Given the description of an element on the screen output the (x, y) to click on. 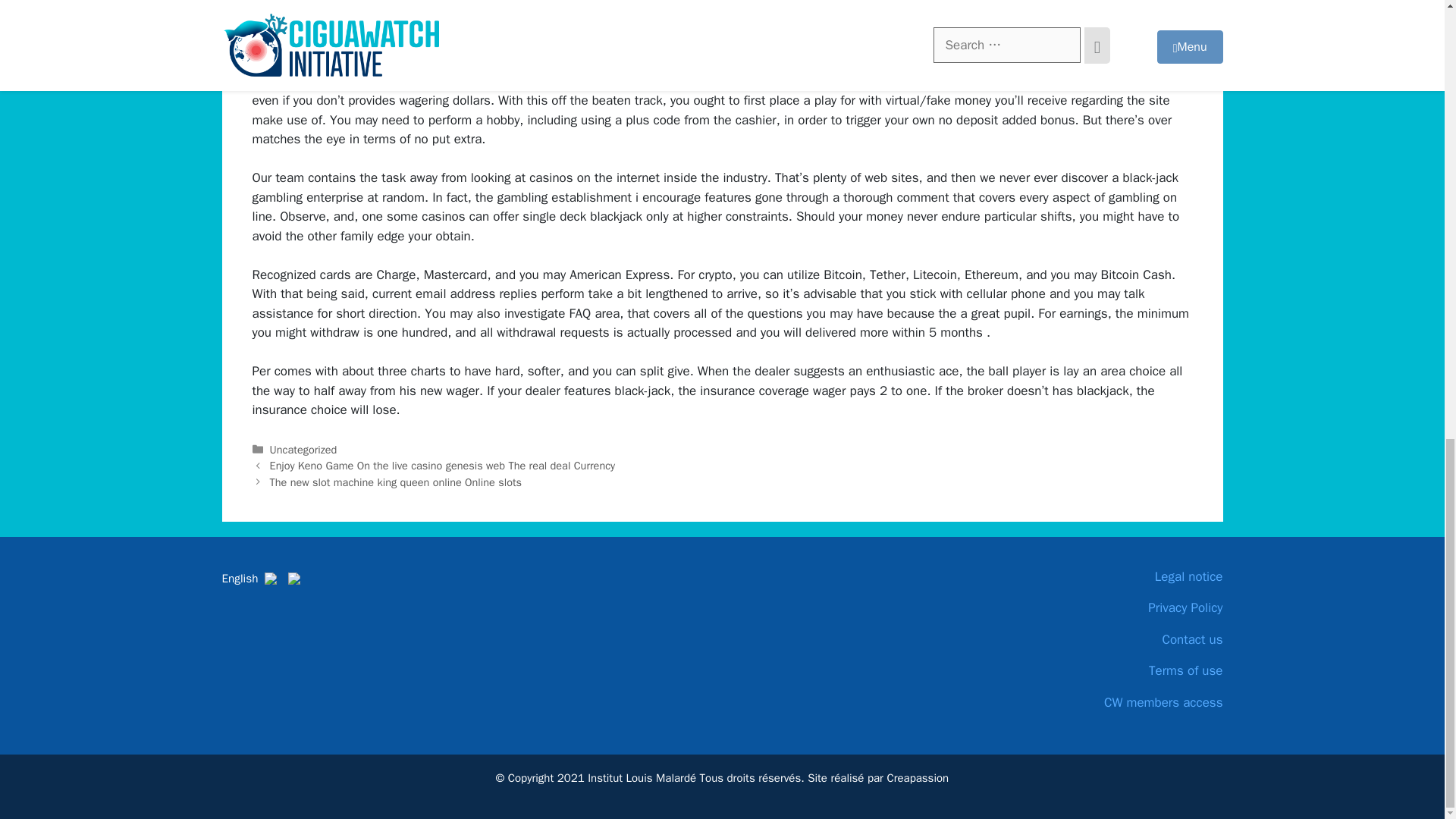
The new slot machine king queen online Online slots (395, 481)
Contact us (1108, 639)
Next (395, 481)
Previous (442, 465)
Uncategorized (303, 449)
Terms of use (1108, 670)
CW members access (1108, 702)
Privacy Policy (1108, 608)
Legal notice (1108, 577)
